Given the description of an element on the screen output the (x, y) to click on. 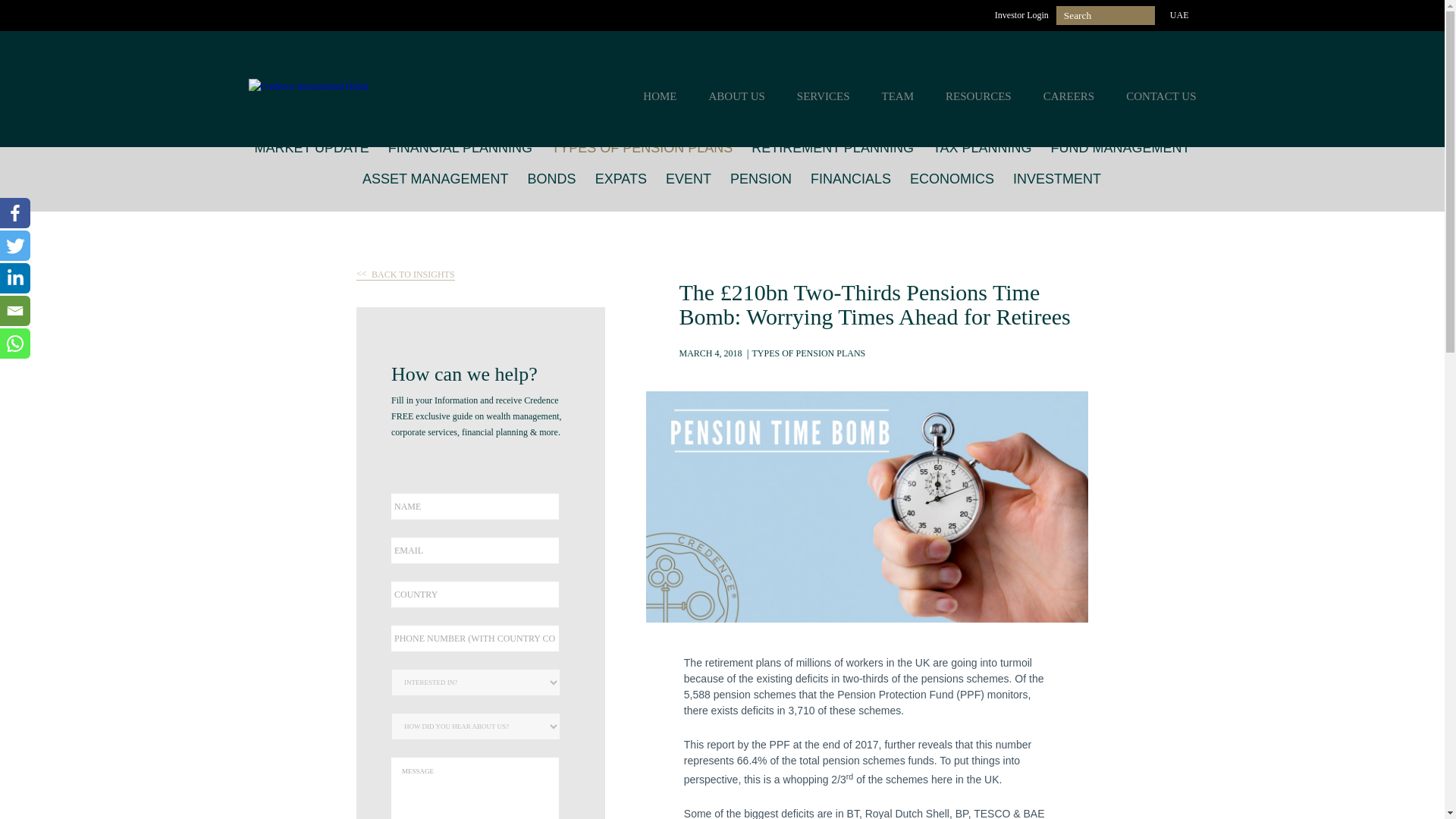
Linkedin (15, 277)
TYPES OF PENSION PLANS (641, 147)
ECONOMICS (952, 177)
INVESTMENT (1056, 177)
Facebook (15, 213)
EXPATS (620, 177)
Whatsapp (15, 343)
FUND MANAGEMENT (1121, 147)
CONTACT US (1160, 96)
SERVICES (823, 96)
